Given the description of an element on the screen output the (x, y) to click on. 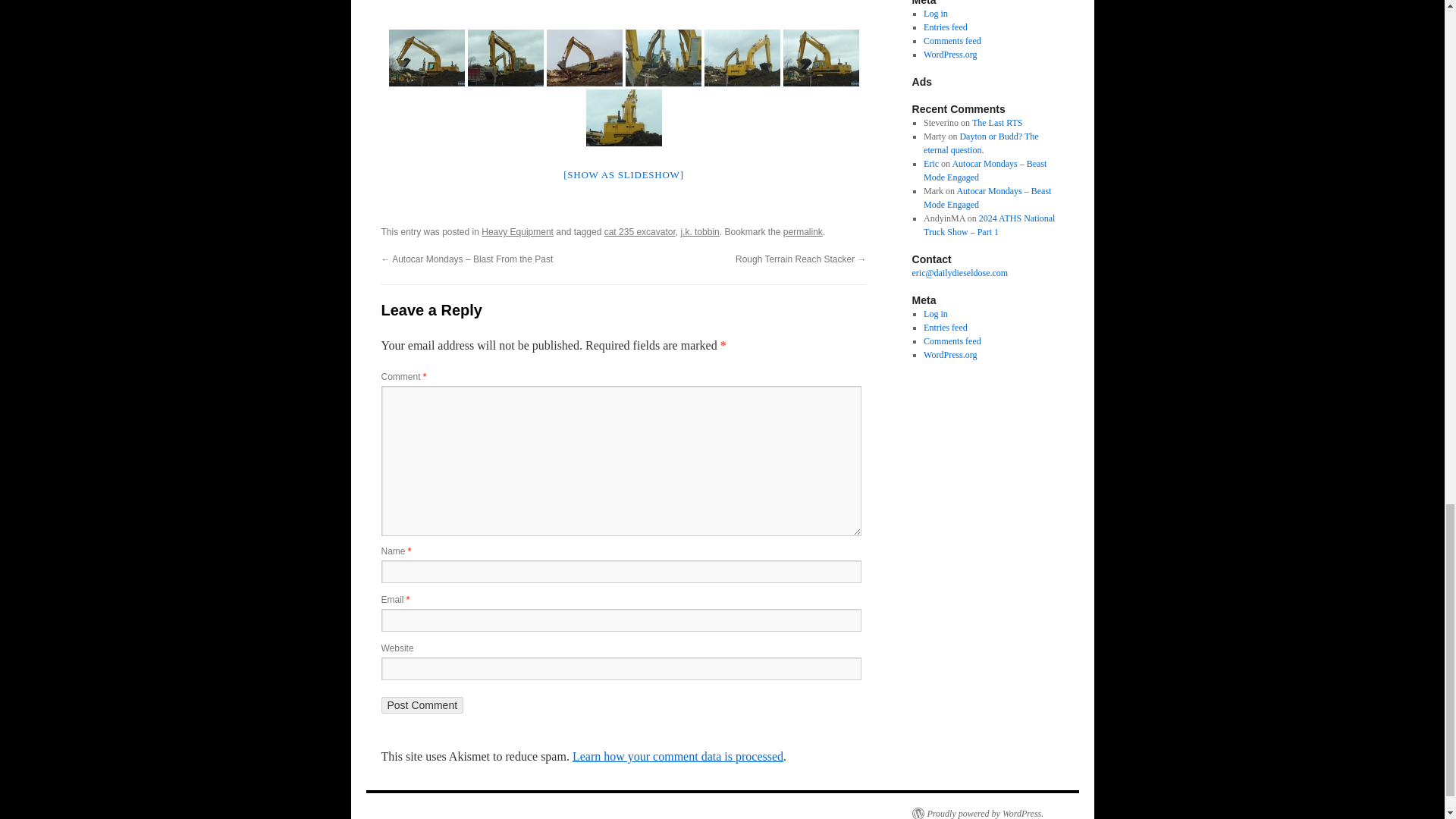
Post Comment (421, 704)
Learn how your comment data is processed (677, 756)
Heavy Equipment (517, 231)
Post Comment (421, 704)
permalink (802, 231)
cat 235 excavator (639, 231)
j.k. tobbin (699, 231)
